Given the description of an element on the screen output the (x, y) to click on. 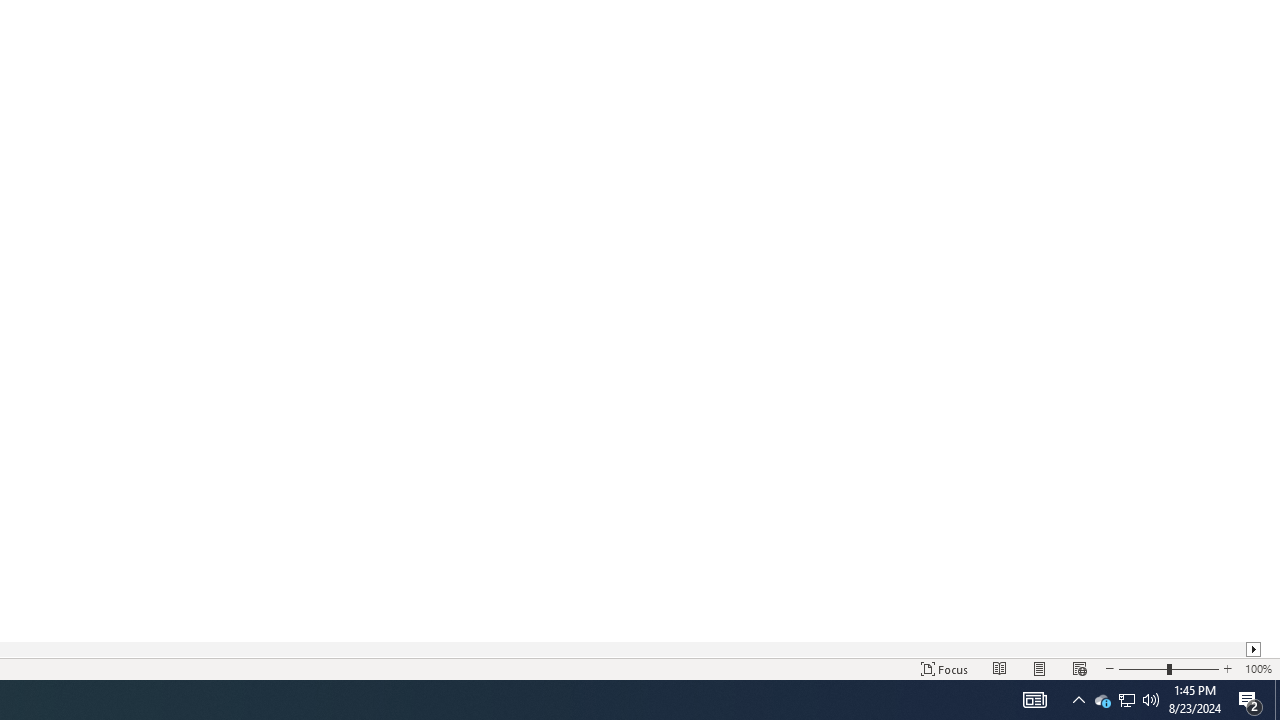
Zoom (1168, 668)
Focus  (944, 668)
Print Layout (1039, 668)
Zoom In (1227, 668)
Web Layout (1079, 668)
Zoom 100% (1258, 668)
Read Mode (1000, 668)
Column right (1254, 649)
Zoom Out (1142, 668)
